Given the description of an element on the screen output the (x, y) to click on. 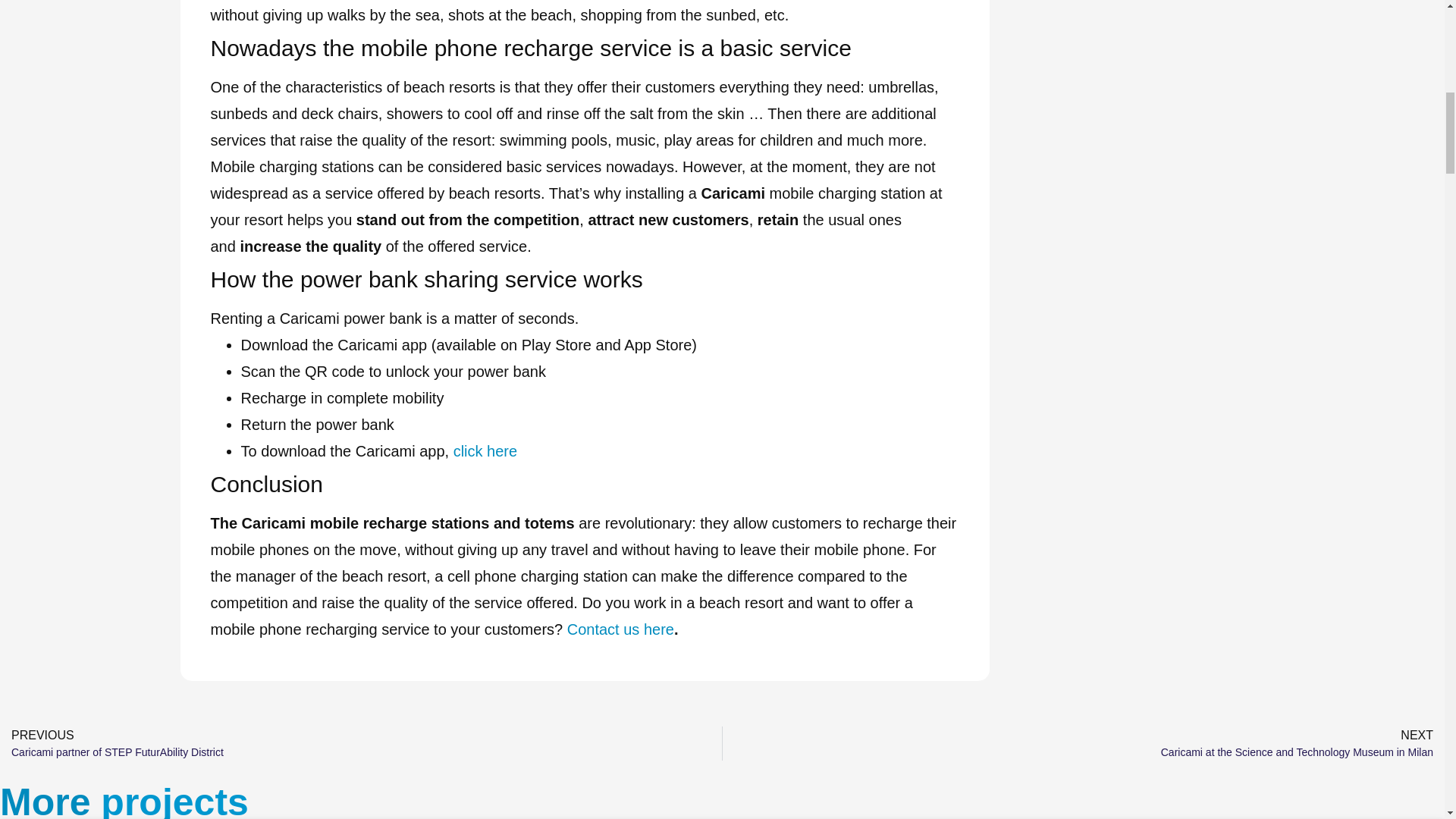
Contact us here (1083, 743)
click here (361, 743)
